Given the description of an element on the screen output the (x, y) to click on. 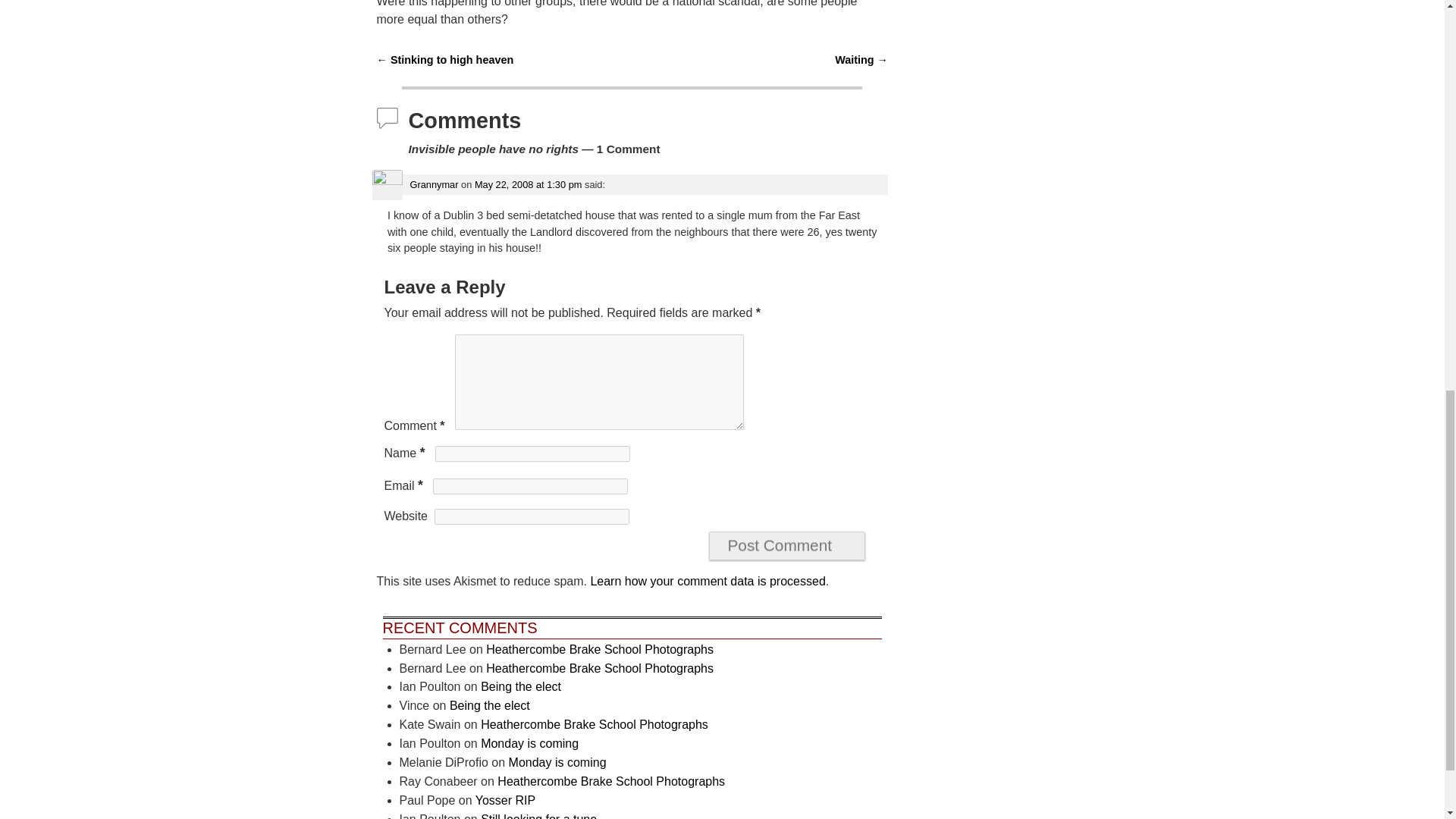
Learn how your comment data is processed (707, 581)
Post Comment (786, 545)
Heathercombe Brake School Photographs (611, 780)
Being the elect (489, 705)
Post Comment (786, 545)
Heathercombe Brake School Photographs (599, 667)
Monday is coming (529, 743)
Grannymar (433, 184)
Heathercombe Brake School Photographs (593, 724)
Monday is coming (557, 762)
Being the elect (520, 686)
Heathercombe Brake School Photographs (599, 649)
Still looking for a tune (538, 816)
Yosser RIP (505, 799)
May 22, 2008 at 1:30 pm (528, 184)
